Given the description of an element on the screen output the (x, y) to click on. 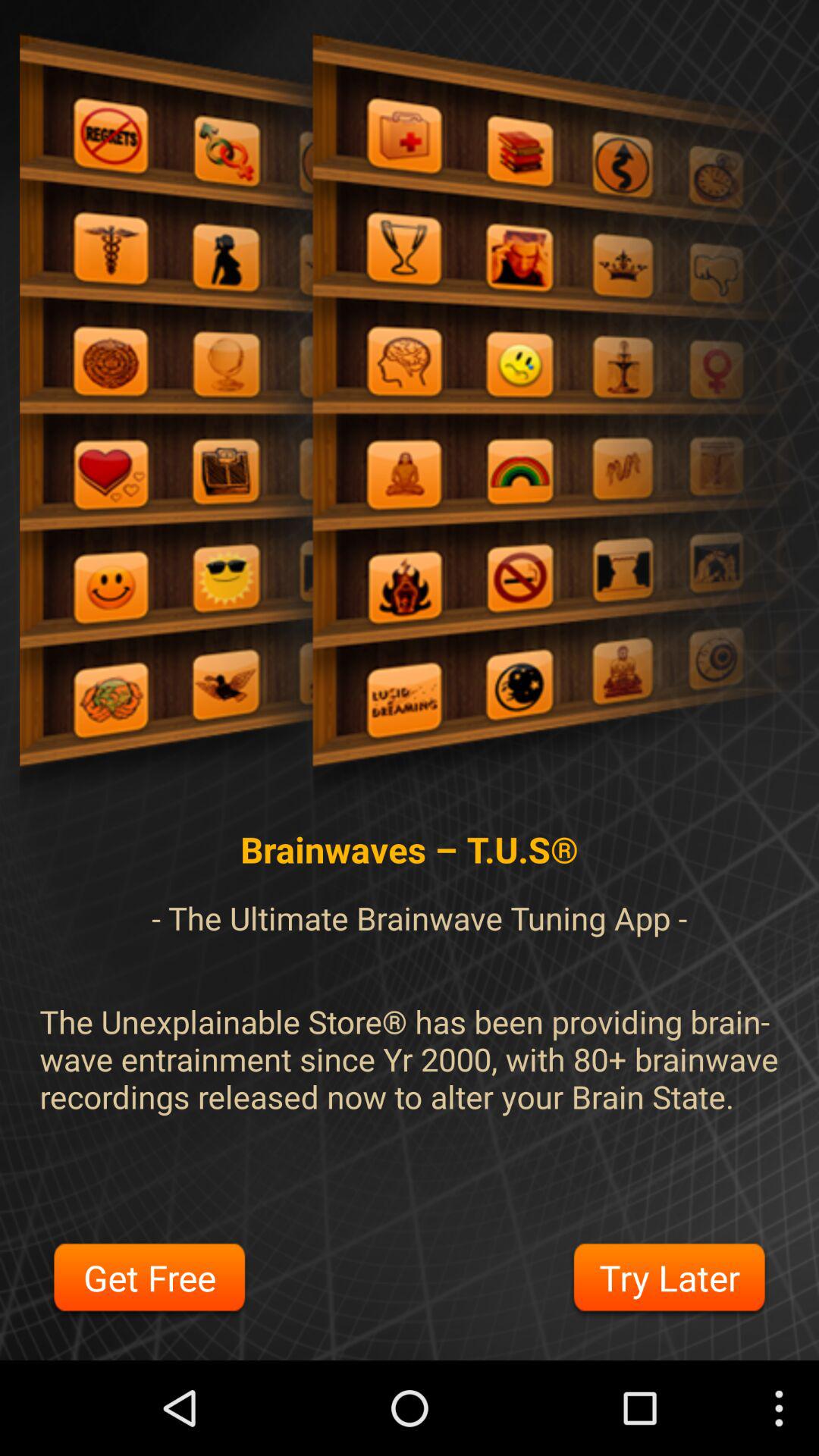
choose button to the right of the get free button (668, 1280)
